Given the description of an element on the screen output the (x, y) to click on. 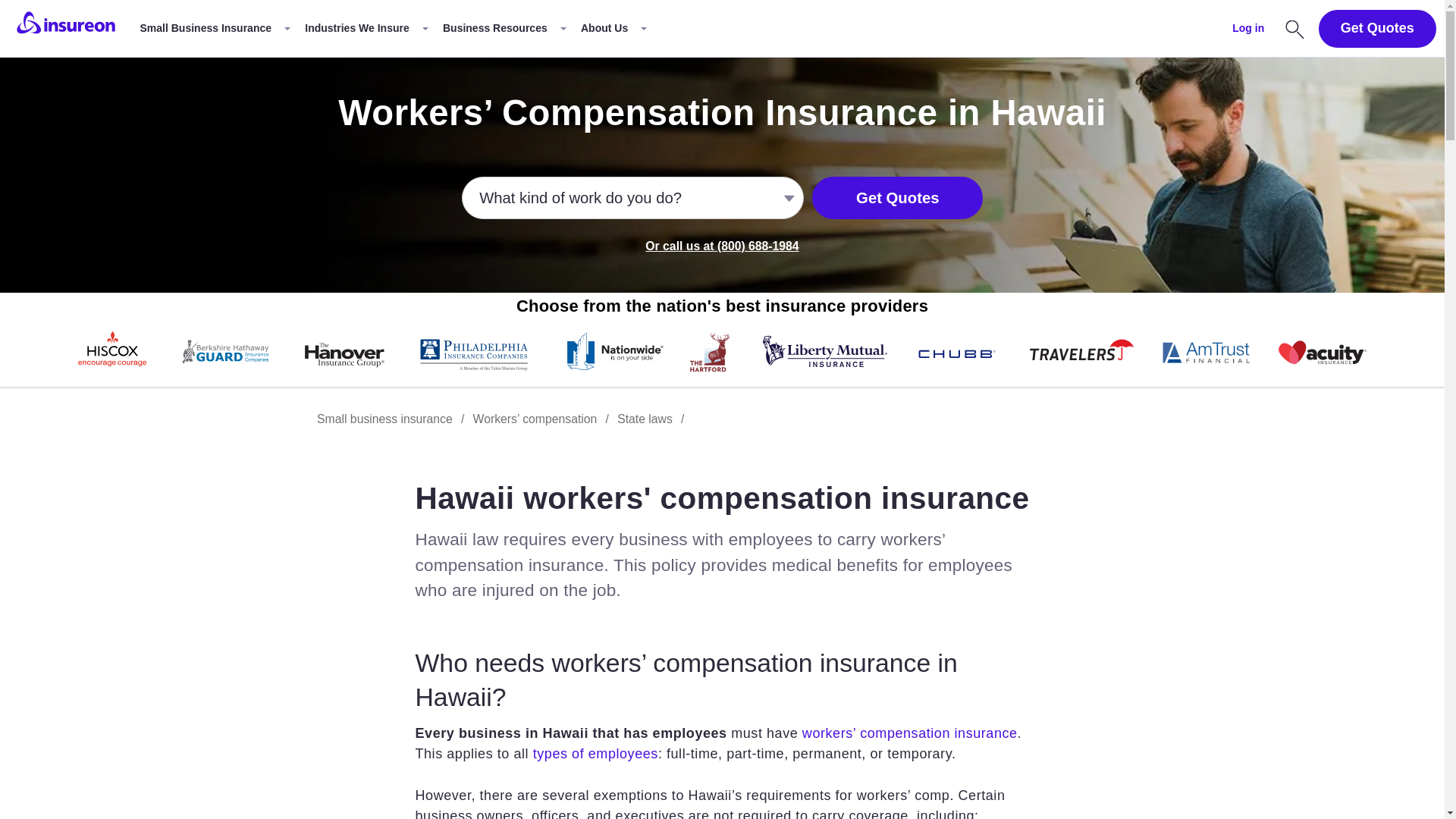
Small business insurance (214, 28)
Business Resources (502, 28)
Industries We Insure (366, 28)
Insureon: Online Business Insurance Agency (66, 28)
Small Business Insurance (214, 28)
